Given the description of an element on the screen output the (x, y) to click on. 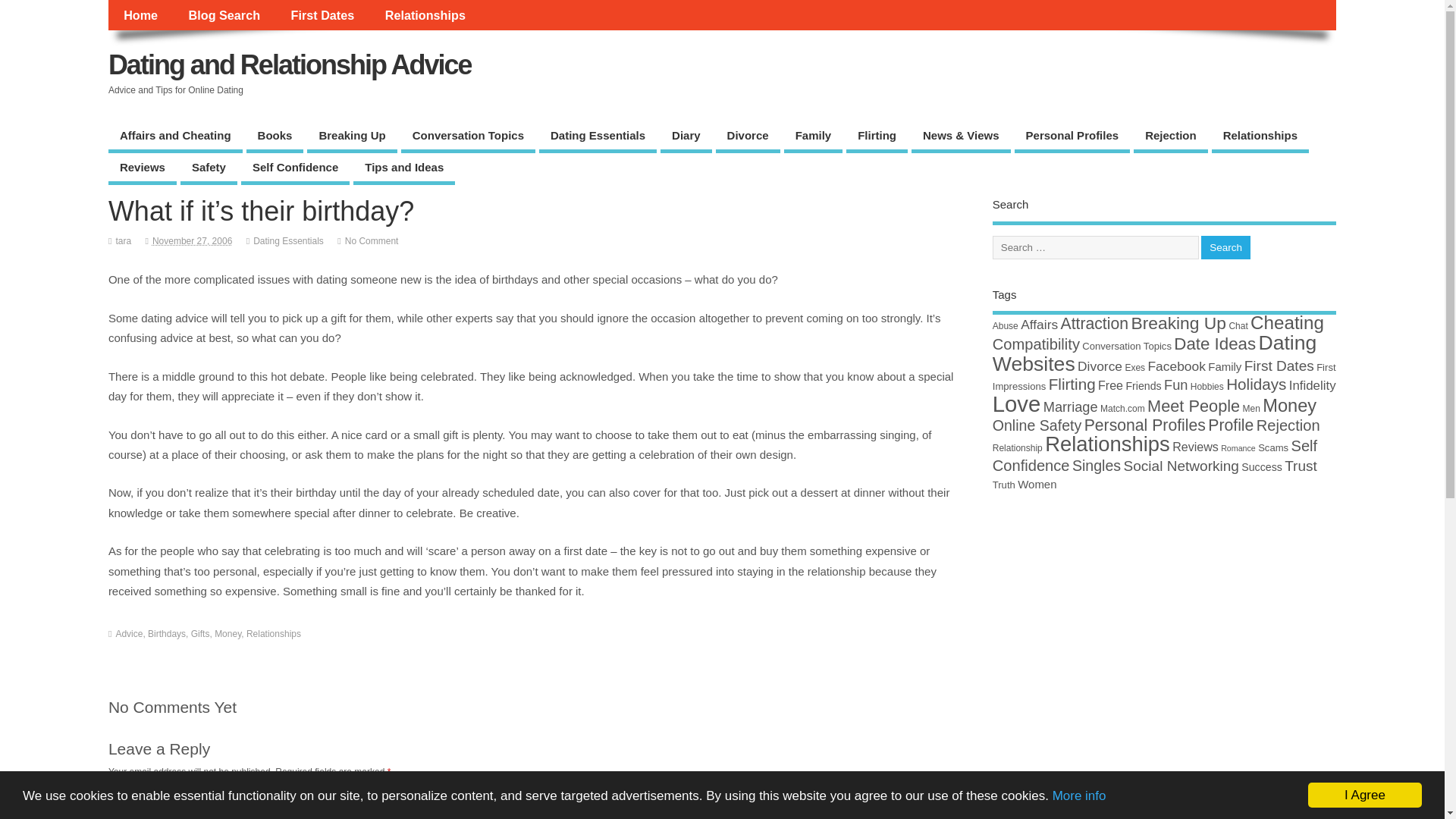
Books (275, 136)
Dating Essentials (288, 240)
Dating and Relationship Advice (289, 64)
Safety (208, 169)
Family (813, 136)
tara (123, 240)
Relationships (1259, 136)
Flirting (876, 136)
Conversation Topics (468, 136)
Diary (686, 136)
